Given the description of an element on the screen output the (x, y) to click on. 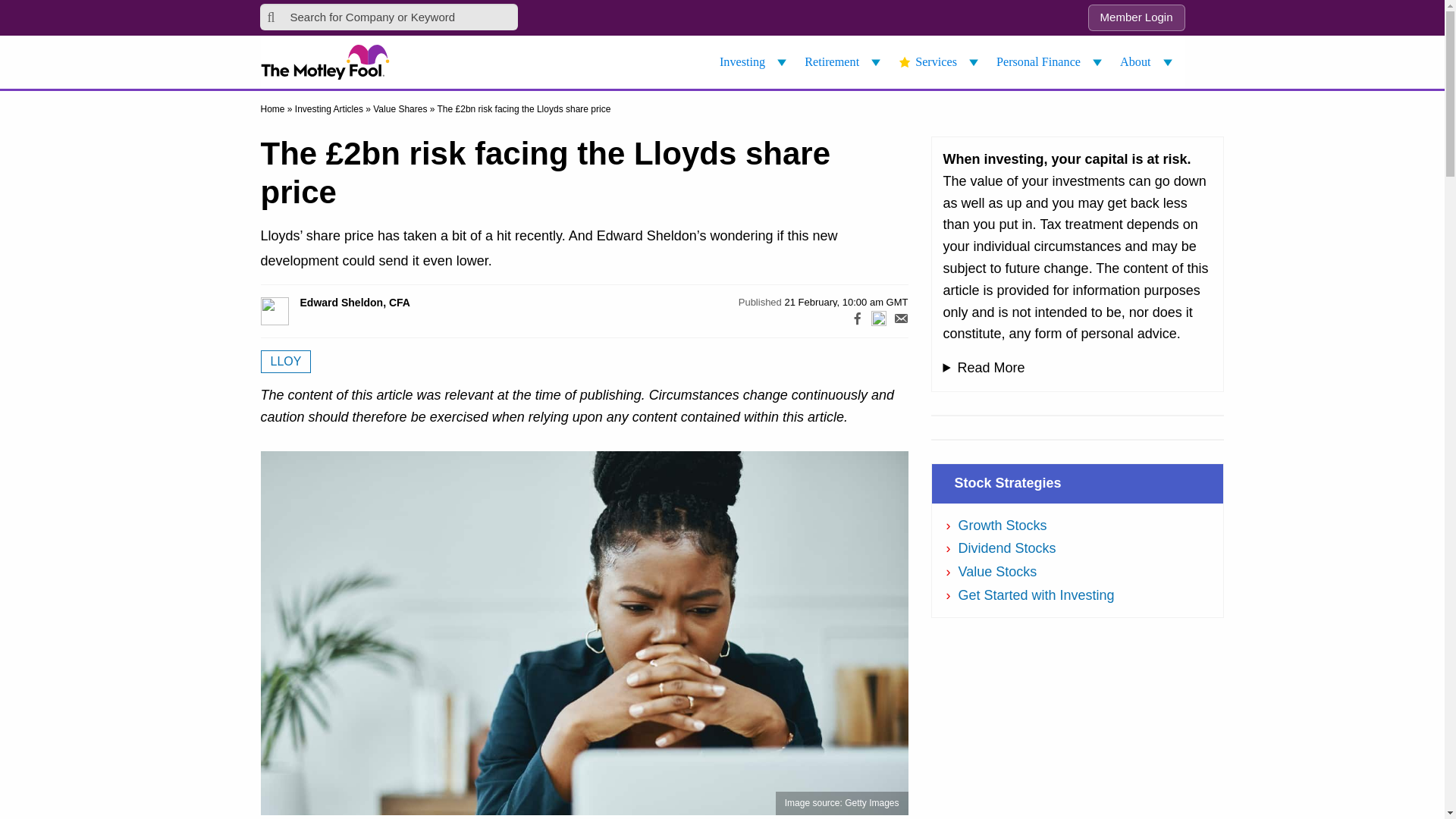
Retirement (844, 62)
Investing (755, 62)
Services (941, 62)
See more articles about LLOY (285, 361)
Member Login (1136, 17)
